Given the description of an element on the screen output the (x, y) to click on. 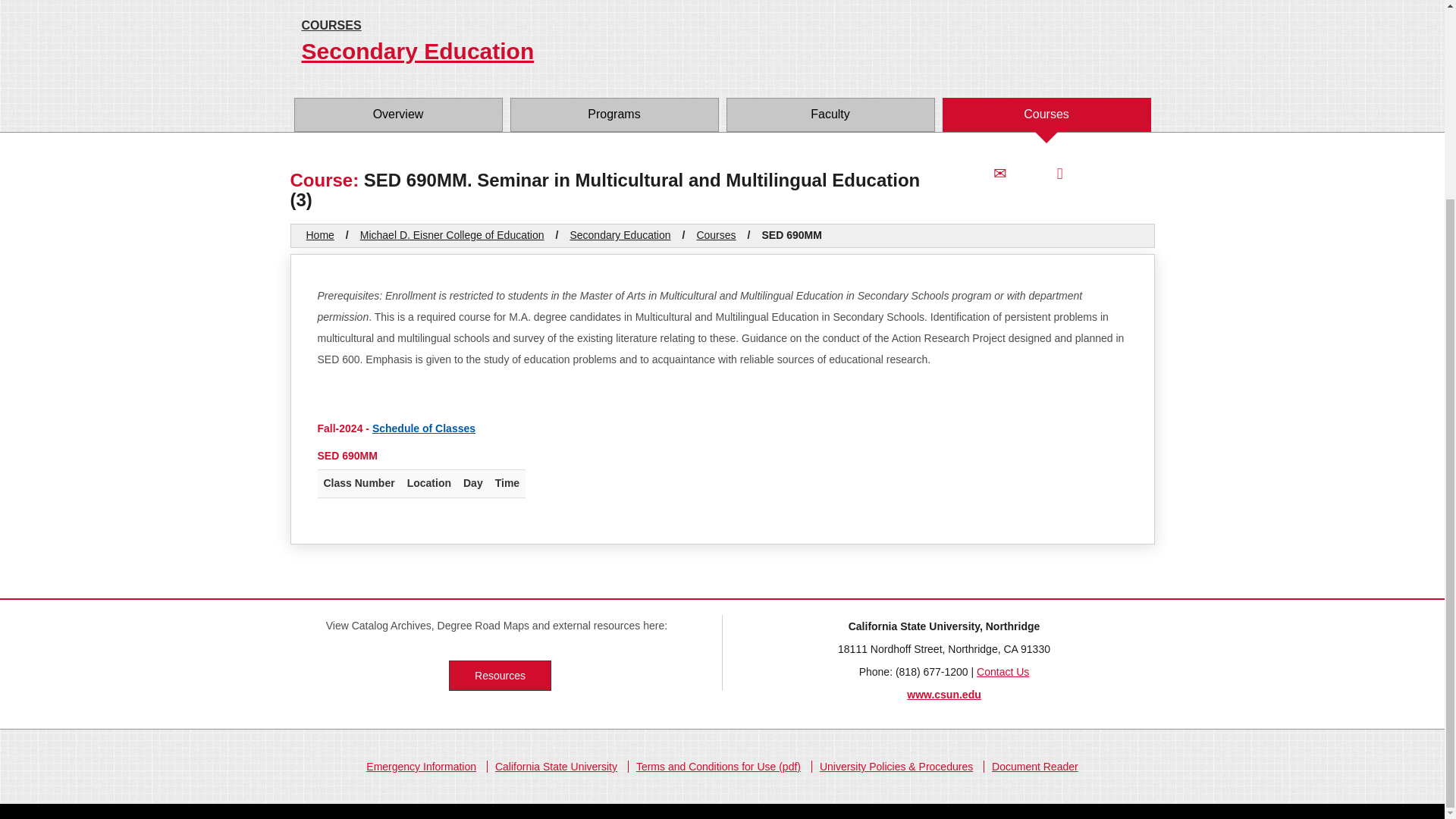
Courses (715, 234)
COURSES (721, 26)
Courses (1046, 114)
Home (319, 234)
Michael D. Eisner College of Education (451, 234)
Email this page (1000, 172)
California State University (555, 766)
Faculty (830, 114)
Resources (499, 675)
Contact Us (1002, 671)
Schedule of Classes (424, 428)
Secondary Education (619, 234)
Secondary Education (721, 52)
Print this page. (1059, 172)
www.csun.edu (944, 694)
